Given the description of an element on the screen output the (x, y) to click on. 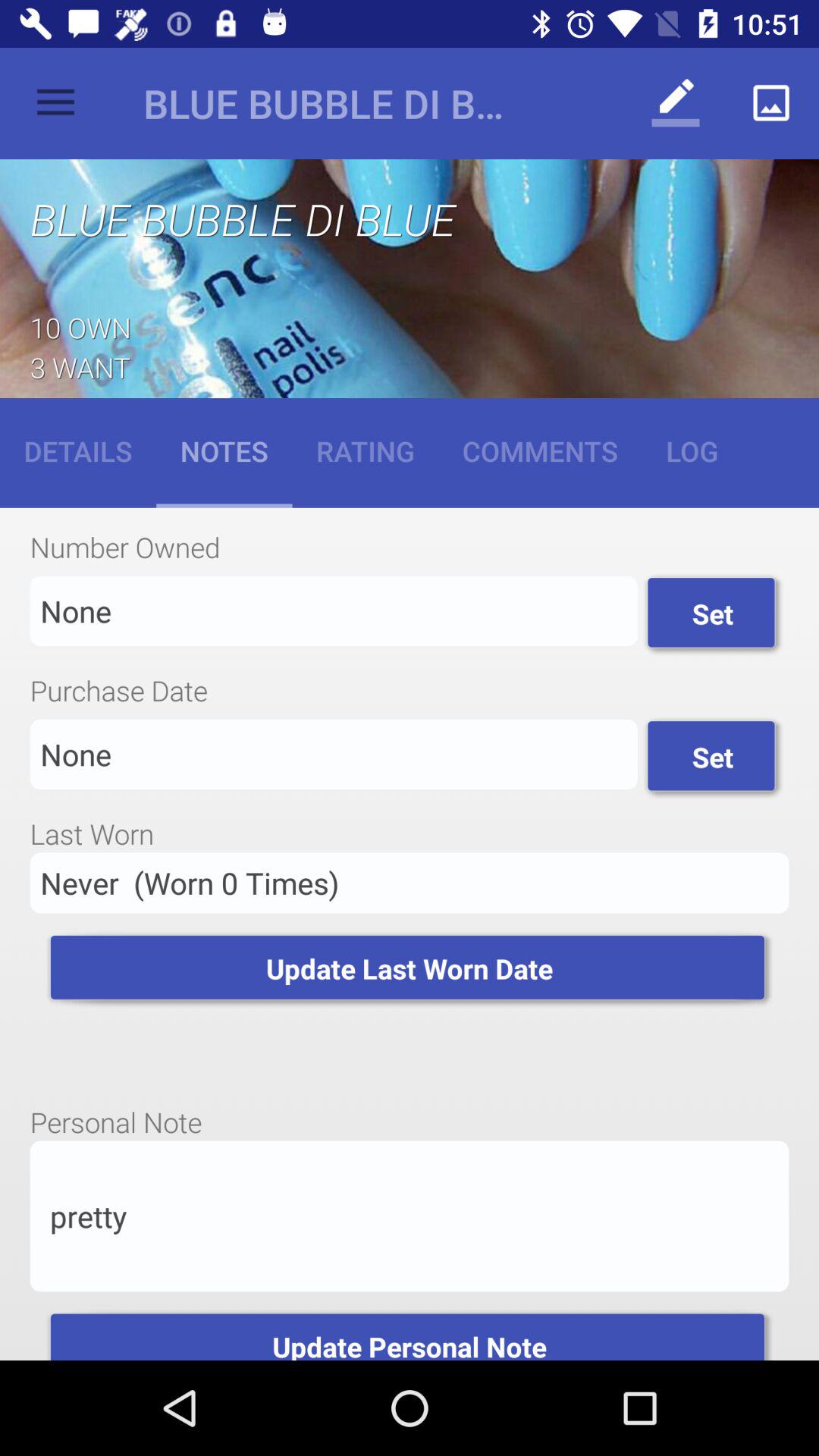
launch app above update personal note item (409, 1215)
